Given the description of an element on the screen output the (x, y) to click on. 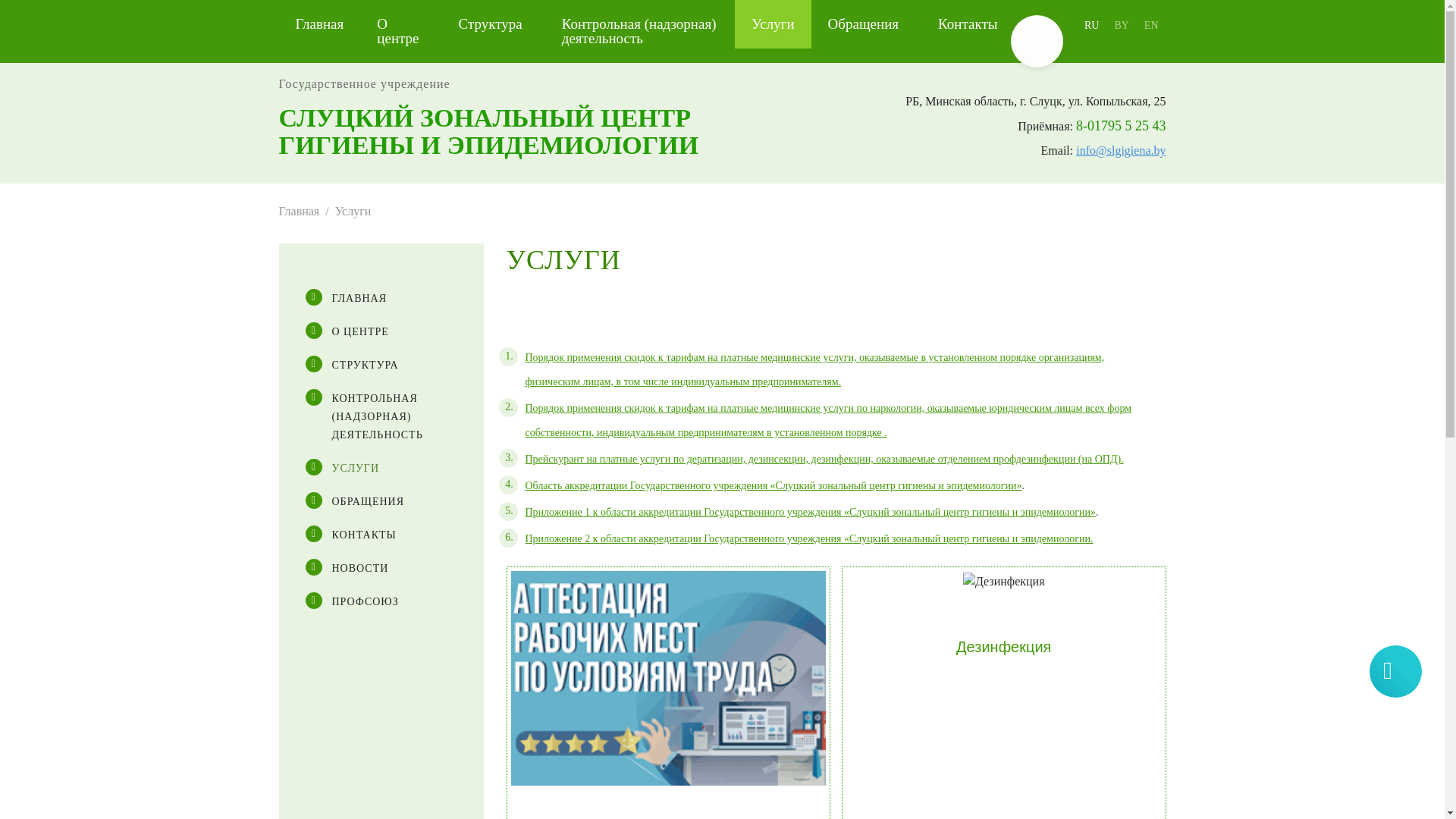
info@slgigiena.by Element type: text (1120, 150)
BY Element type: text (1120, 25)
RU Element type: text (1091, 25)
EN Element type: text (1151, 25)
8-01795 5 25 43 Element type: text (1121, 125)
